Given the description of an element on the screen output the (x, y) to click on. 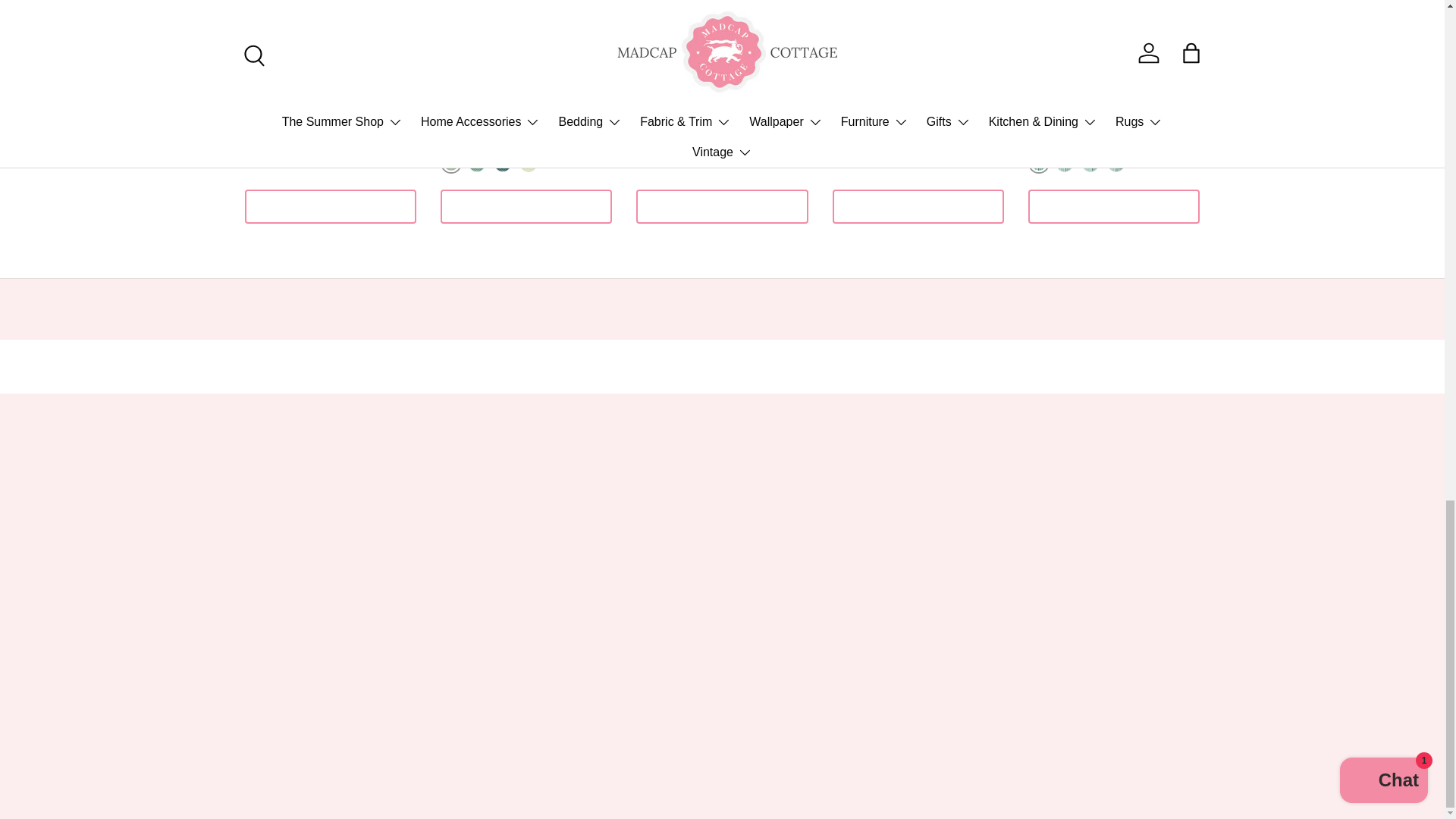
Meadow Green (528, 162)
Celery Green (451, 162)
Navy Blue (1115, 162)
Barbados Green (1038, 162)
Forest Green (476, 162)
Lemon Grove Yellow (1064, 162)
Meadow Green (1090, 162)
